Given the description of an element on the screen output the (x, y) to click on. 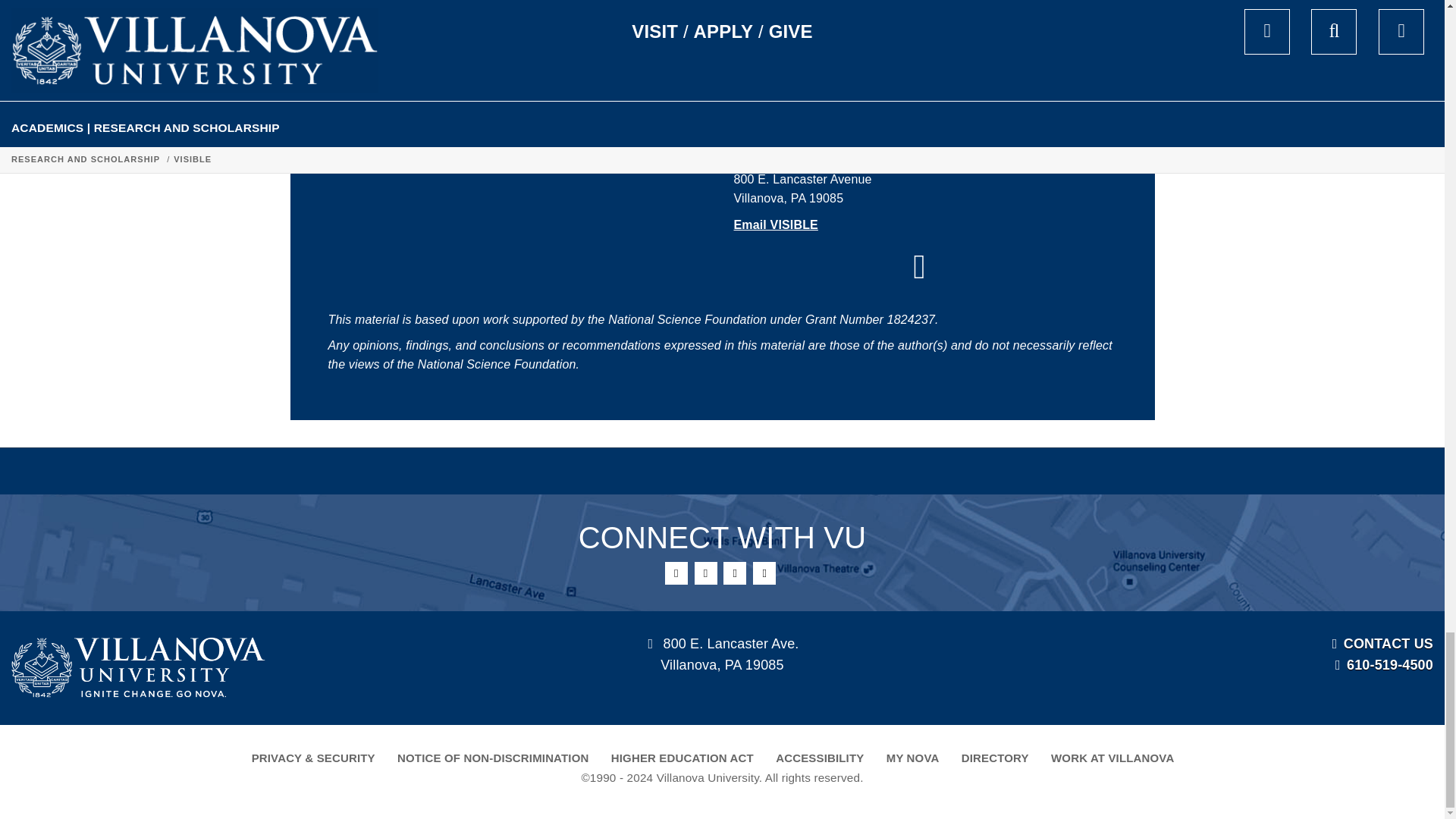
Villanova University (137, 667)
